Given the description of an element on the screen output the (x, y) to click on. 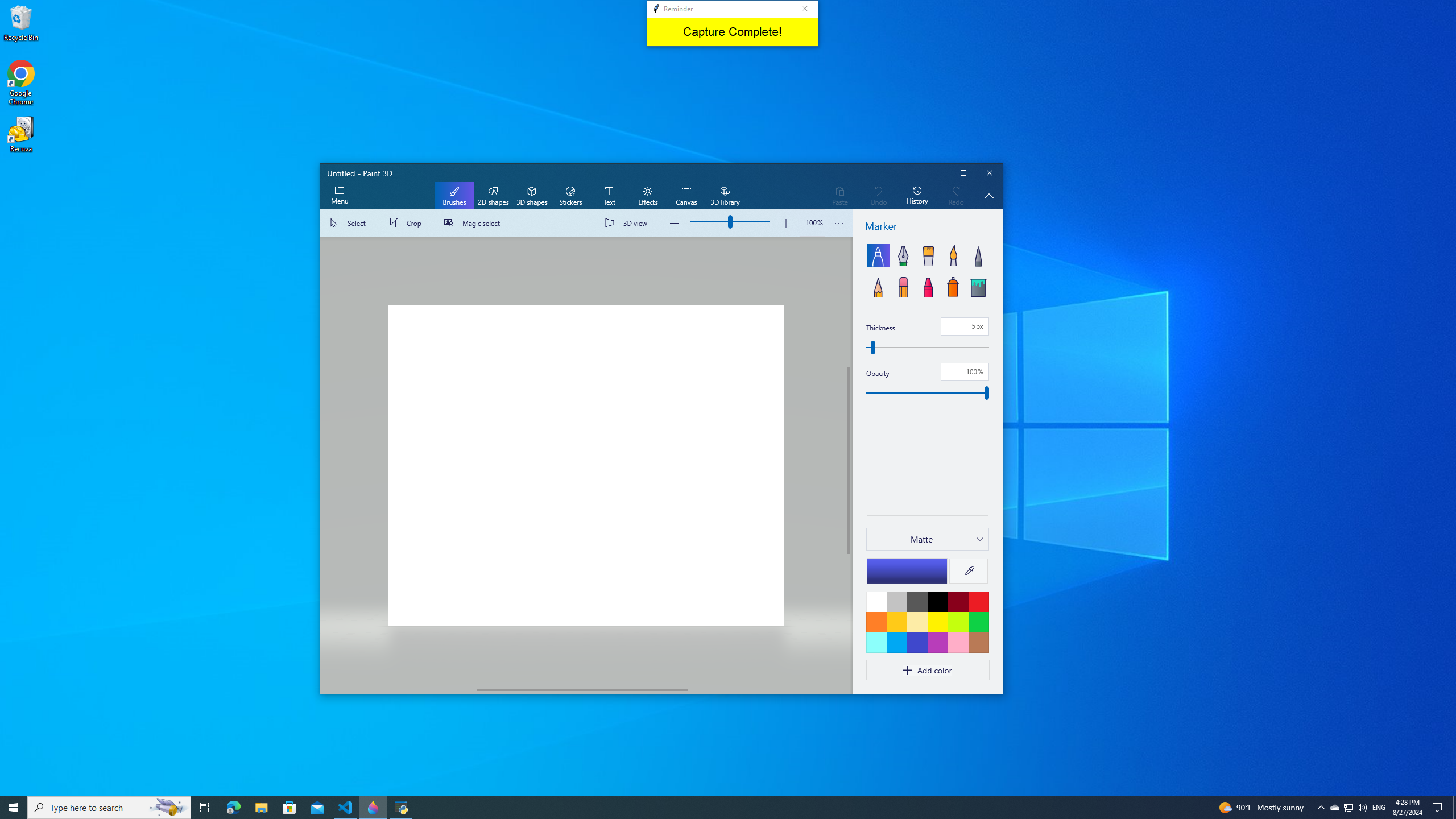
Horizontal Large Increase (765, 689)
Crop (407, 222)
Text (608, 195)
Fill (978, 285)
Dark grey (917, 601)
Effects (647, 195)
Select (350, 222)
Eraser (902, 285)
Oil brush (928, 255)
Rose (957, 642)
Yellow (937, 621)
Thickness, pixels (964, 326)
Pink (937, 642)
